Given the description of an element on the screen output the (x, y) to click on. 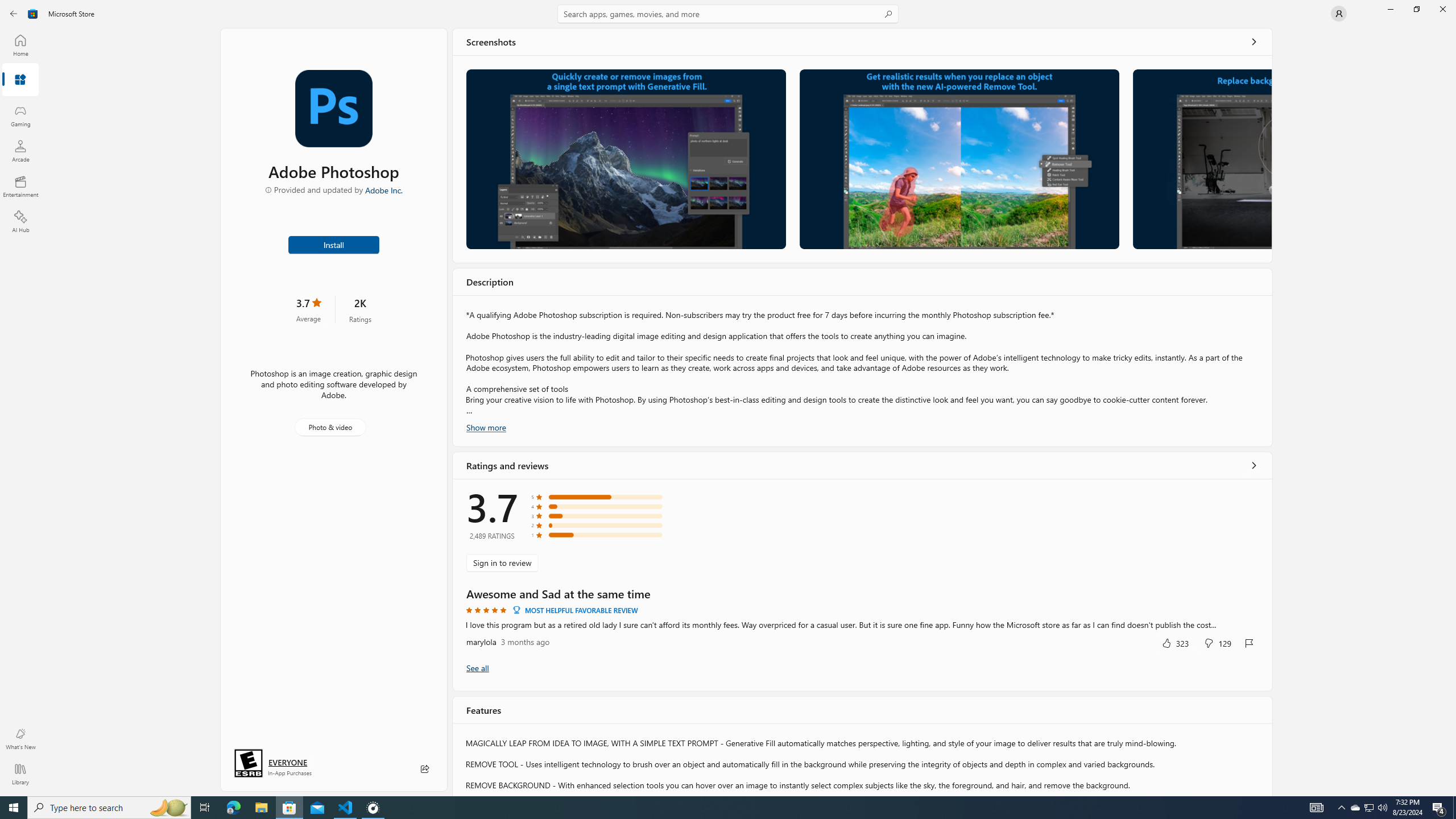
Entertainment (20, 185)
See all (1253, 41)
Close Microsoft Store (1442, 9)
Minimize Microsoft Store (1390, 9)
AutomationID: NavigationControl (728, 398)
Screenshot 1 (625, 158)
Class: Image (32, 13)
Screenshot 2 (959, 158)
AI Hub (20, 221)
User profile (1338, 13)
Show all ratings and reviews (477, 667)
Show more (485, 426)
Gaming (20, 115)
Photo & video (329, 426)
Home (20, 45)
